Given the description of an element on the screen output the (x, y) to click on. 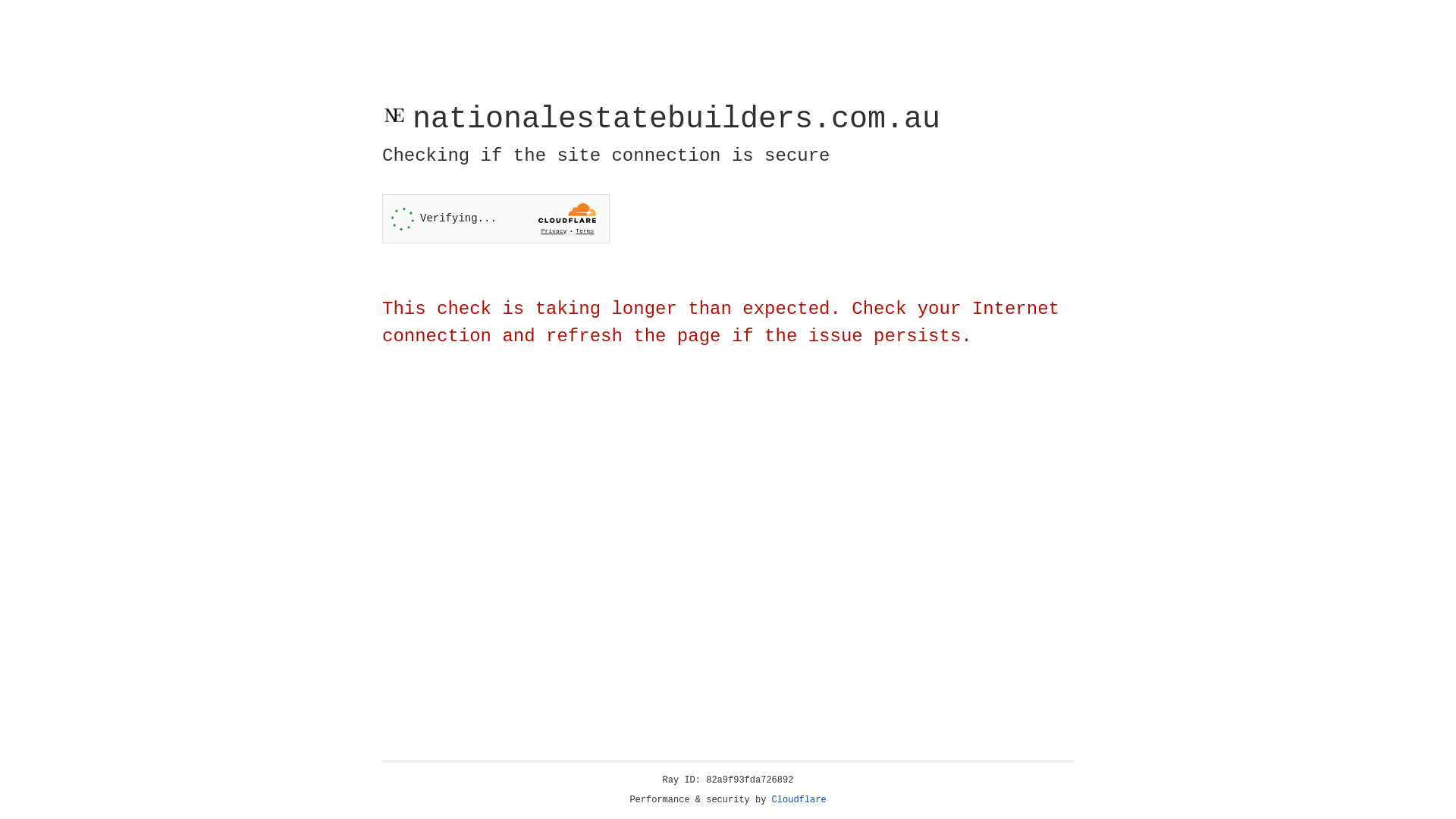
Widget containing a Cloudflare security challenge Element type: hover (495, 218)
Cloudflare Element type: text (798, 799)
